Given the description of an element on the screen output the (x, y) to click on. 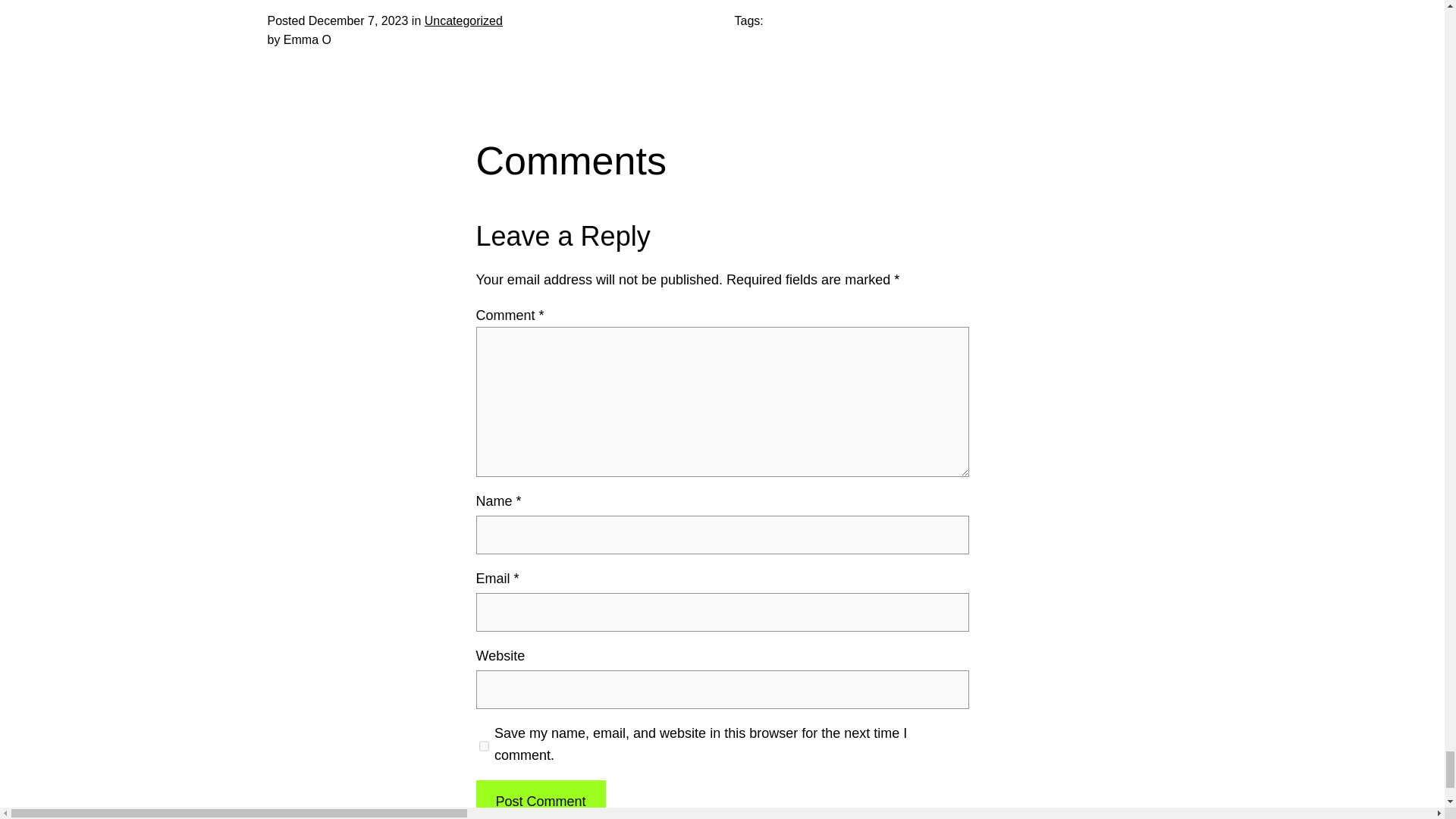
Post Comment (540, 799)
Post Comment (540, 799)
Uncategorized (463, 20)
